Given the description of an element on the screen output the (x, y) to click on. 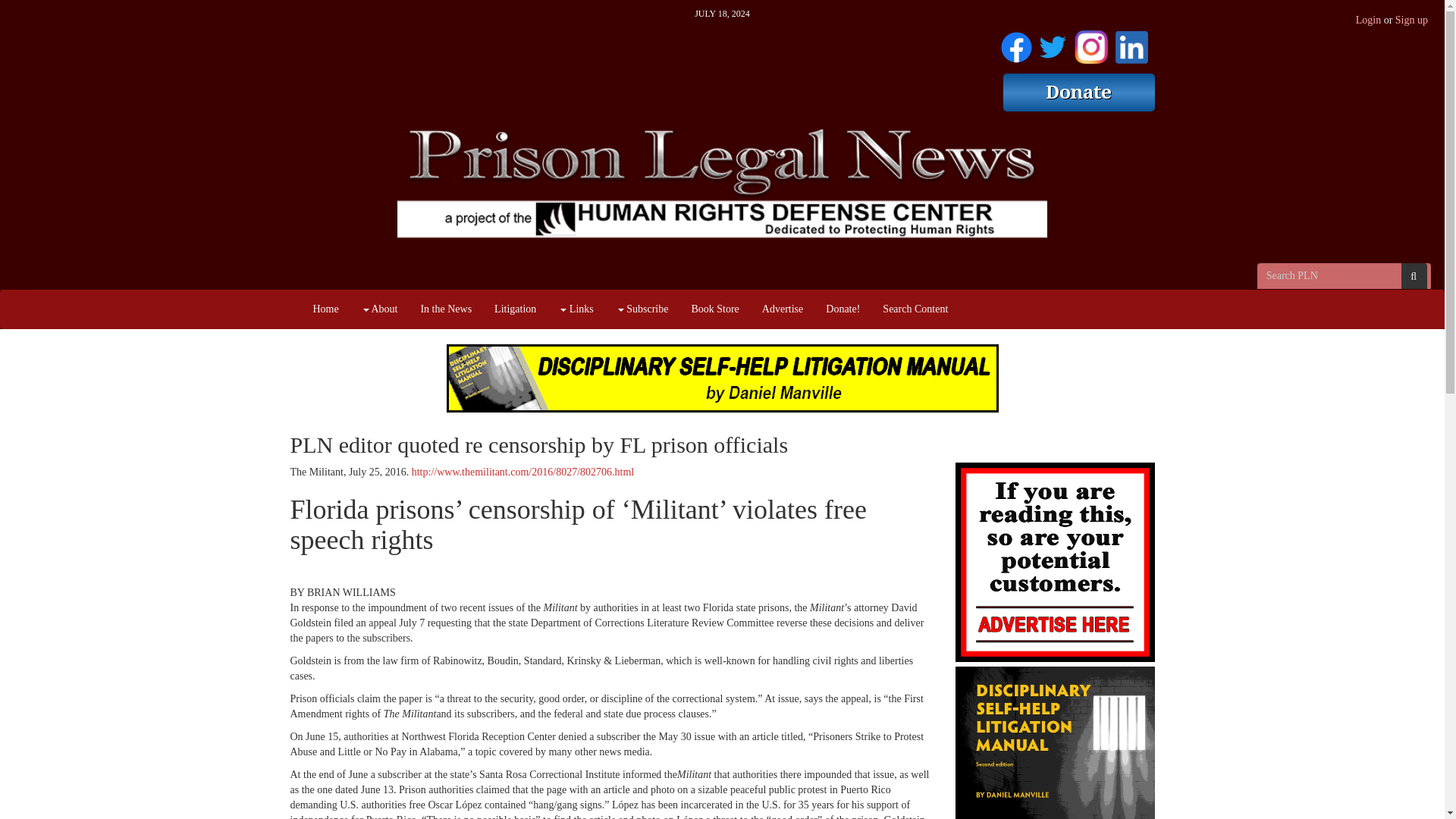
Advertise (782, 309)
Search Content (914, 309)
Login (1367, 19)
Sign up (1411, 19)
Prison Legal News FaceBook Page (1016, 44)
Home (325, 309)
In the News (446, 309)
Litigation (515, 309)
Donate! (841, 309)
Links (575, 309)
HRDC Instagram Page (1091, 44)
Subscribe (642, 309)
About (379, 309)
Book Store (714, 309)
Paul Wright's LinkedIn Page (1131, 44)
